Given the description of an element on the screen output the (x, y) to click on. 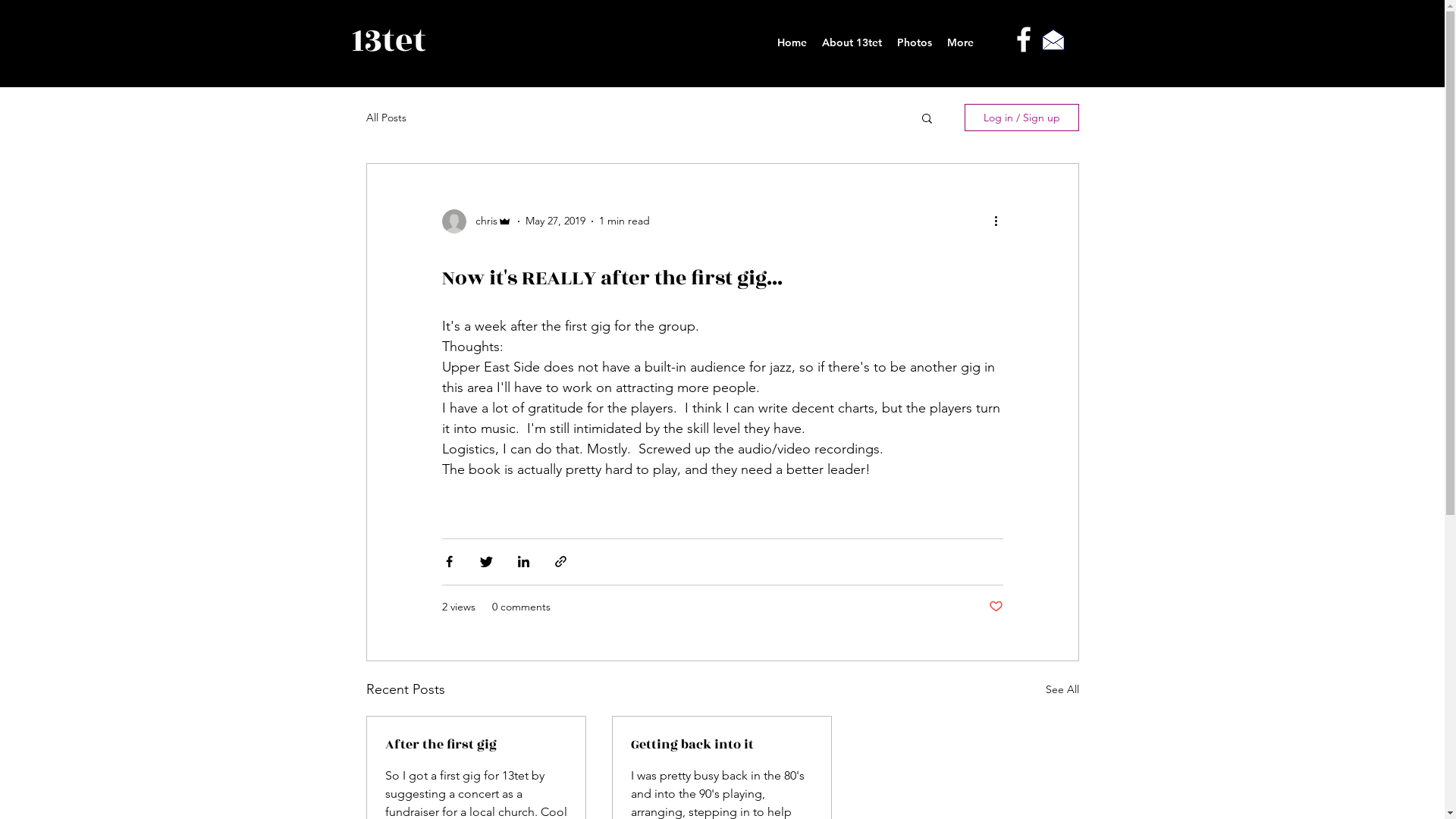
See All Element type: text (1061, 689)
After the first gig Element type: text (476, 744)
Post not marked as liked Element type: text (995, 607)
All Posts Element type: text (385, 117)
Getting back into it Element type: text (721, 744)
13tet Element type: text (387, 40)
About 13tet Element type: text (851, 42)
Photos Element type: text (913, 42)
Log in / Sign up Element type: text (1021, 117)
Home Element type: text (790, 42)
